Given the description of an element on the screen output the (x, y) to click on. 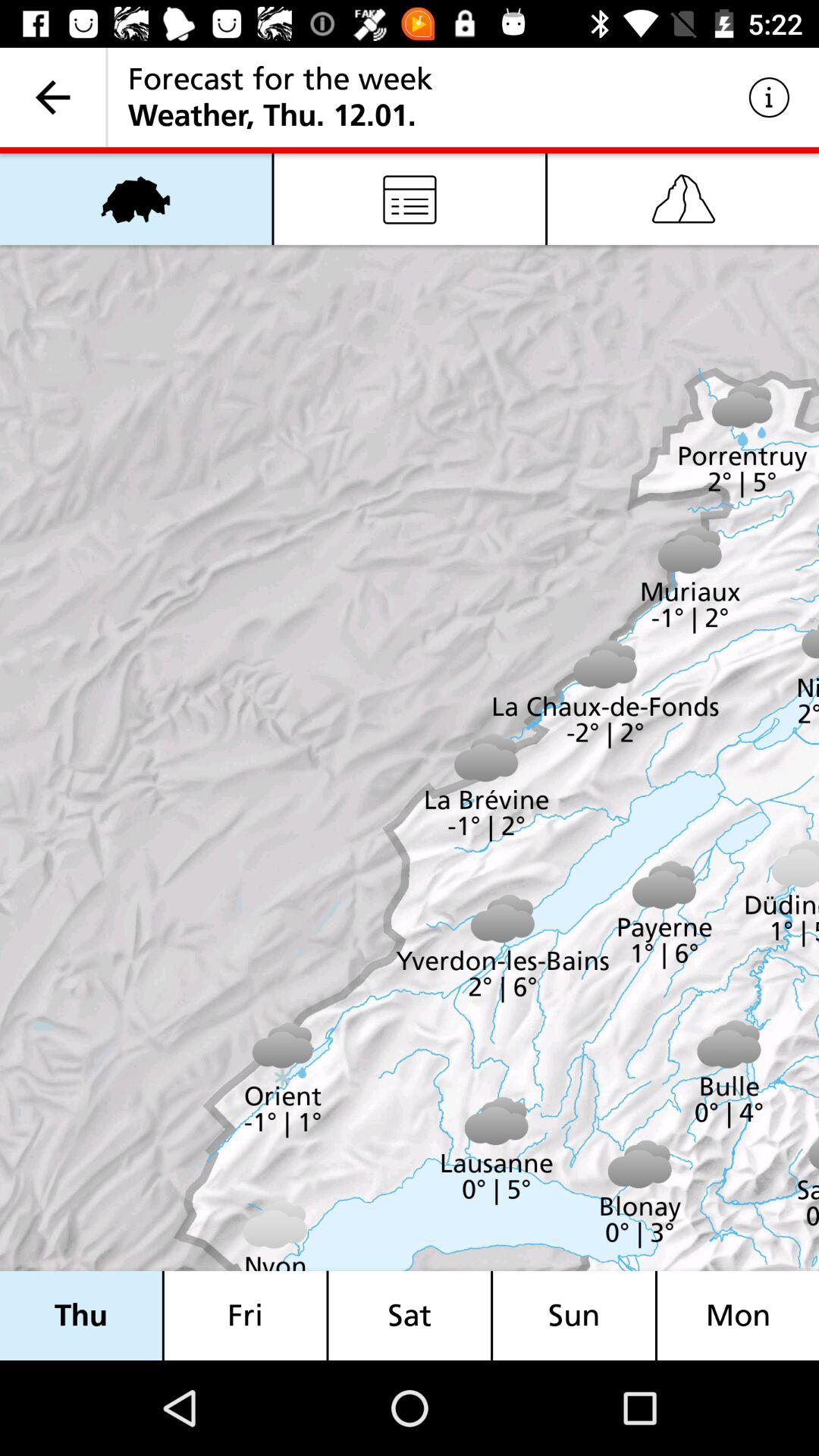
jump to the mon item (738, 1315)
